Given the description of an element on the screen output the (x, y) to click on. 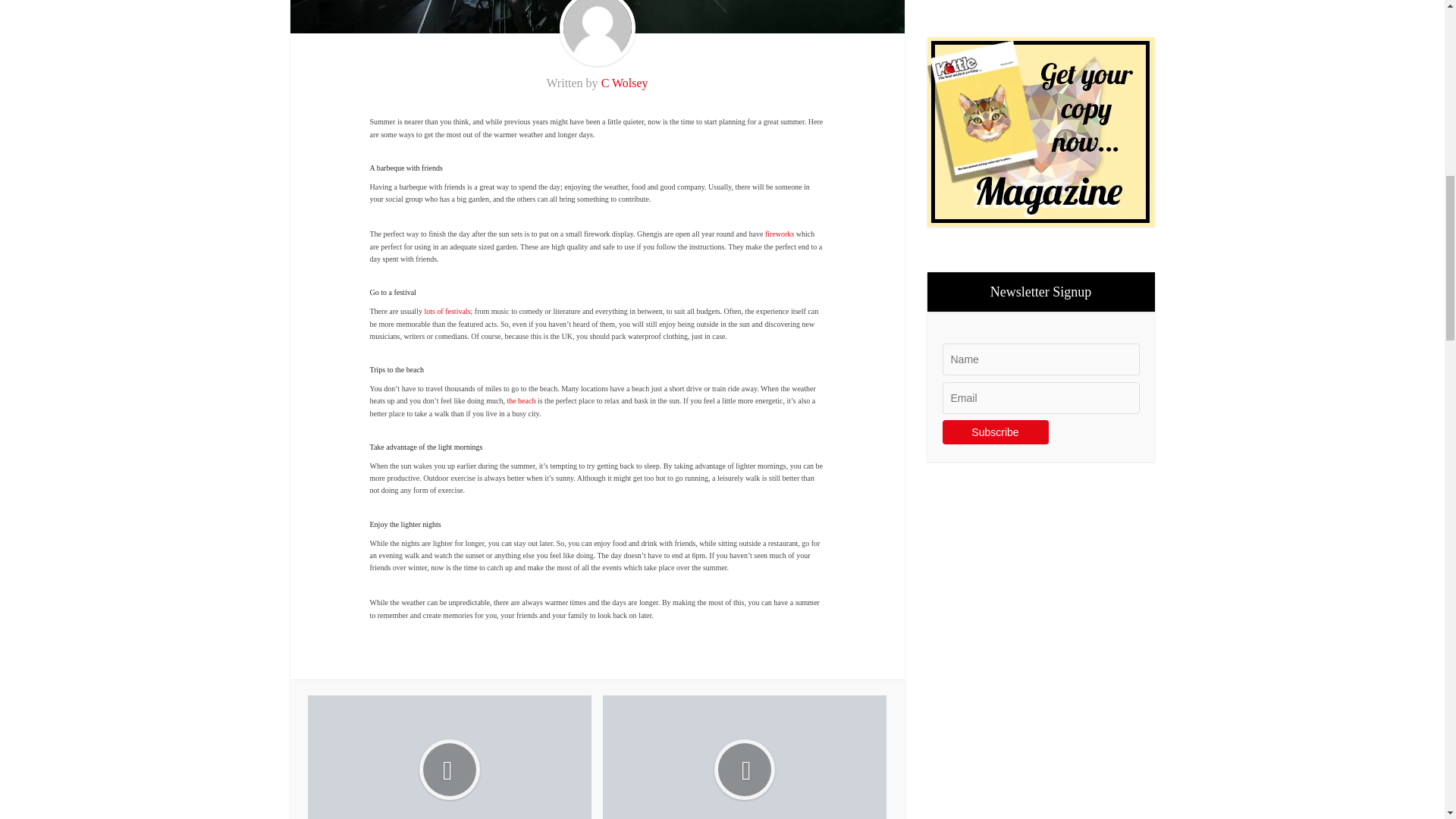
C Wolsey (624, 82)
Subscribe (995, 432)
lots of festivals (446, 311)
4 tips for planning a stress-free family vacation (449, 757)
the beach (520, 400)
Does Nasonex prevent hay fever from returning? (744, 757)
fireworks (779, 234)
